Given the description of an element on the screen output the (x, y) to click on. 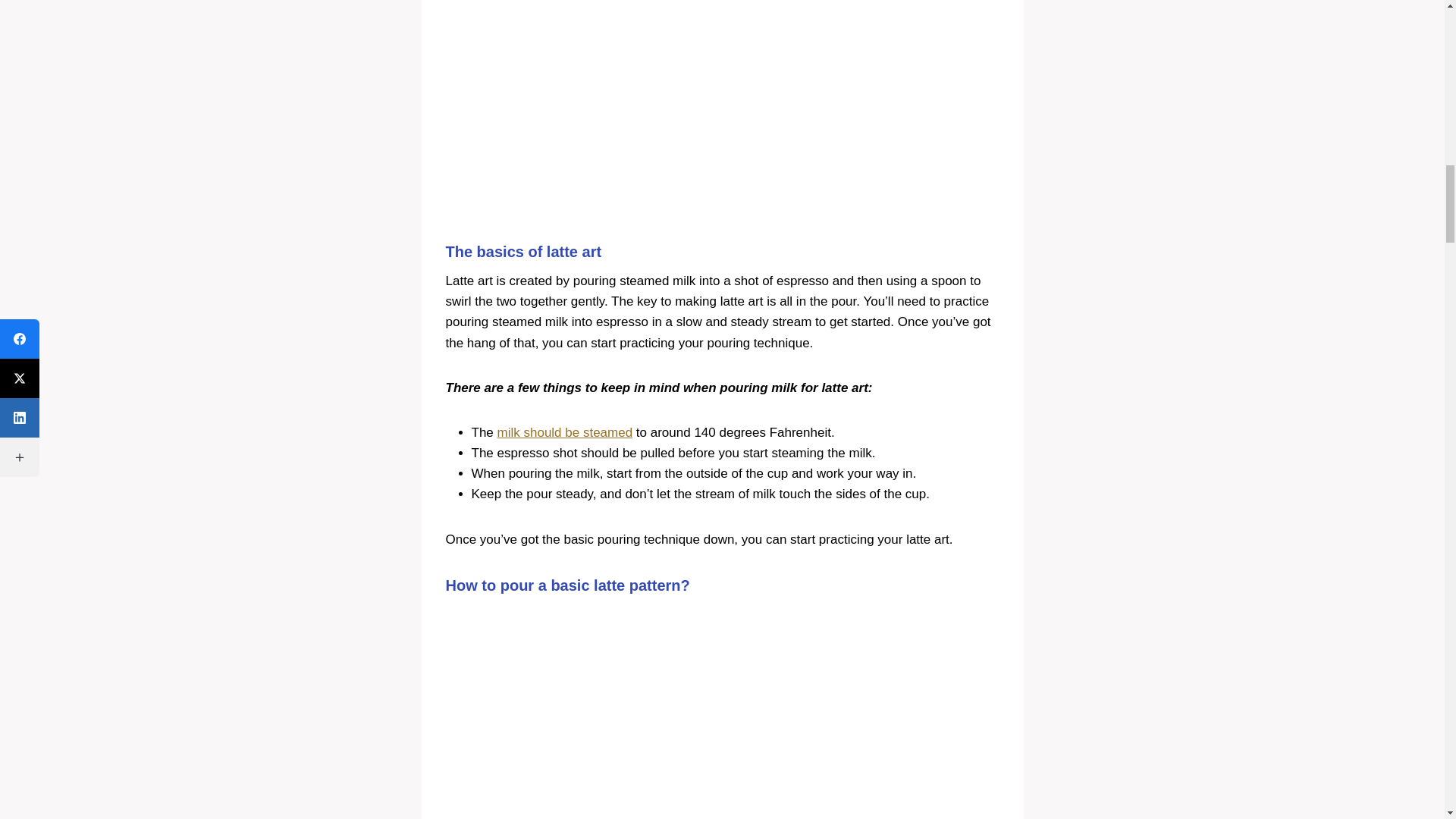
milk should be steamed (565, 432)
